Given the description of an element on the screen output the (x, y) to click on. 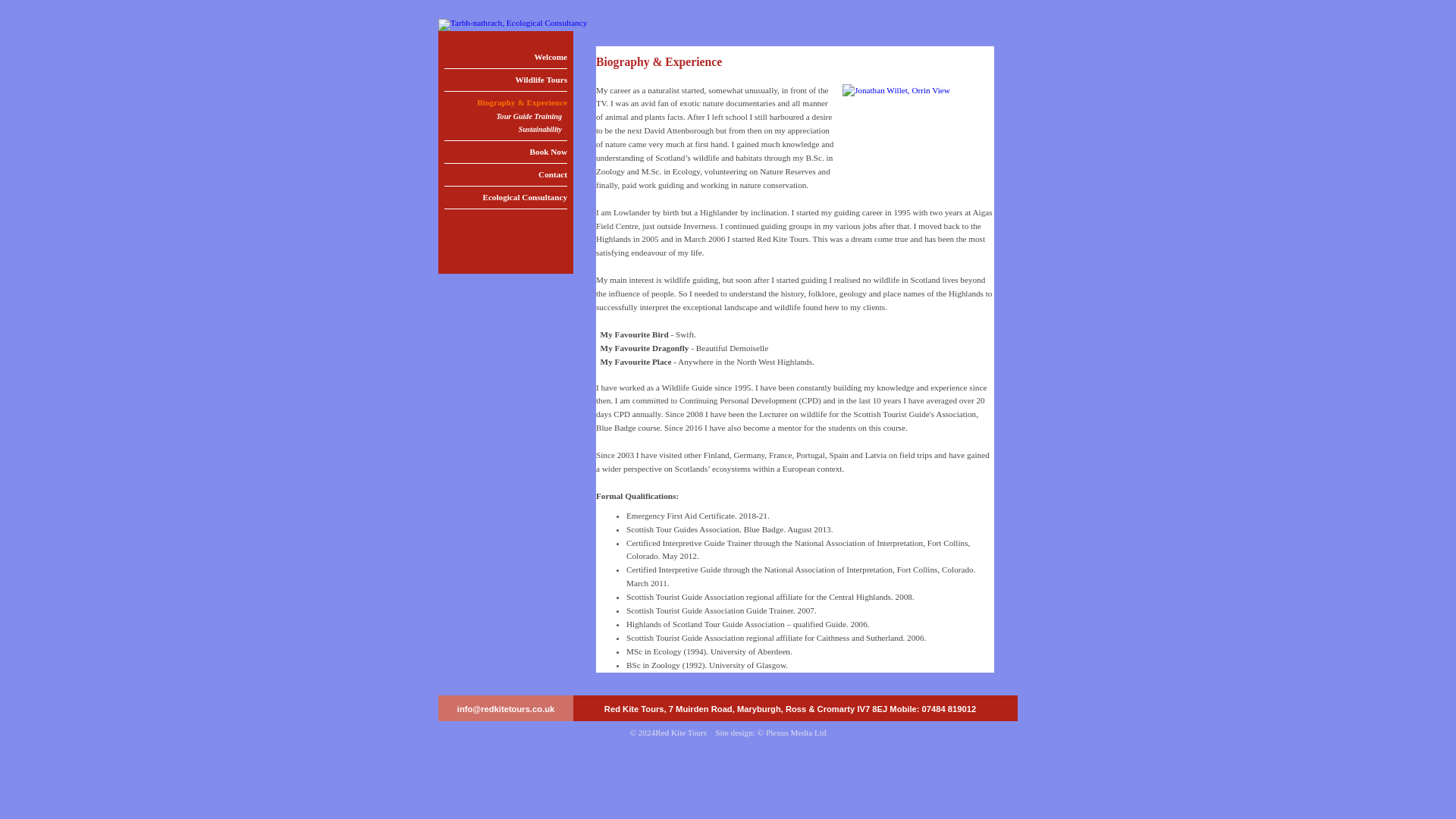
Contact (505, 174)
Wildlife Tours (505, 79)
Plexus Media Ltd (796, 732)
Tour Guide Training (505, 116)
Book Now (505, 151)
Ecological Consultancy (505, 197)
Welcome (505, 56)
Sustainability (505, 129)
website design (796, 732)
